Given the description of an element on the screen output the (x, y) to click on. 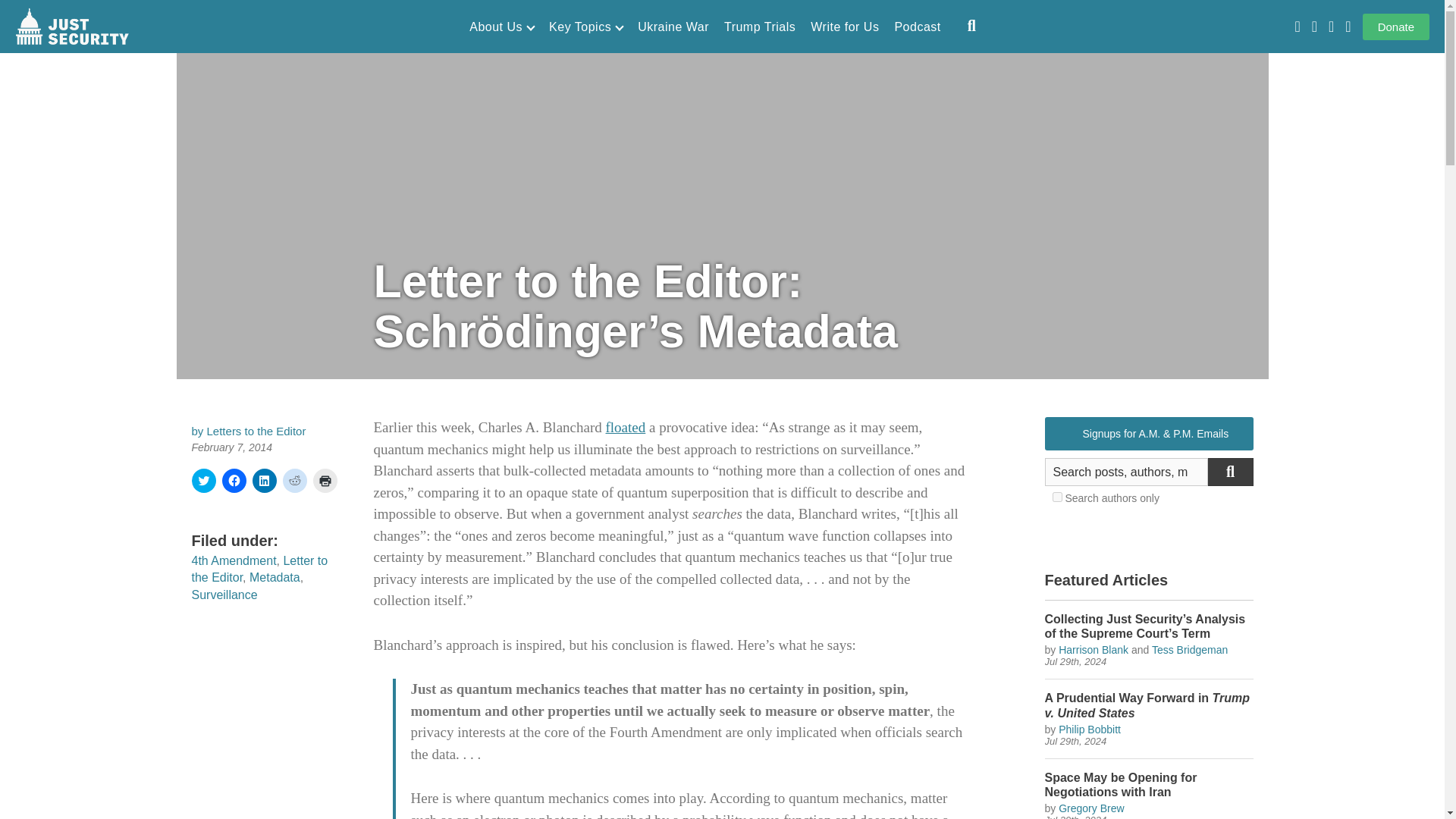
Profile and articles by Tess Bridgeman (1189, 649)
Click to share on LinkedIn (263, 480)
Search for: (1126, 471)
Key Topics (585, 27)
Trump Trials (758, 27)
Write for Us (844, 27)
Ukraine War (673, 27)
Click to share on Facebook (233, 480)
About Us (501, 27)
Click to share on Reddit (293, 480)
Click to print (324, 480)
Click to share on Twitter (202, 480)
Donate (1395, 26)
Profile and articles by Letters to the Editor (255, 431)
Profile and articles by Philip Bobbitt (1089, 729)
